Given the description of an element on the screen output the (x, y) to click on. 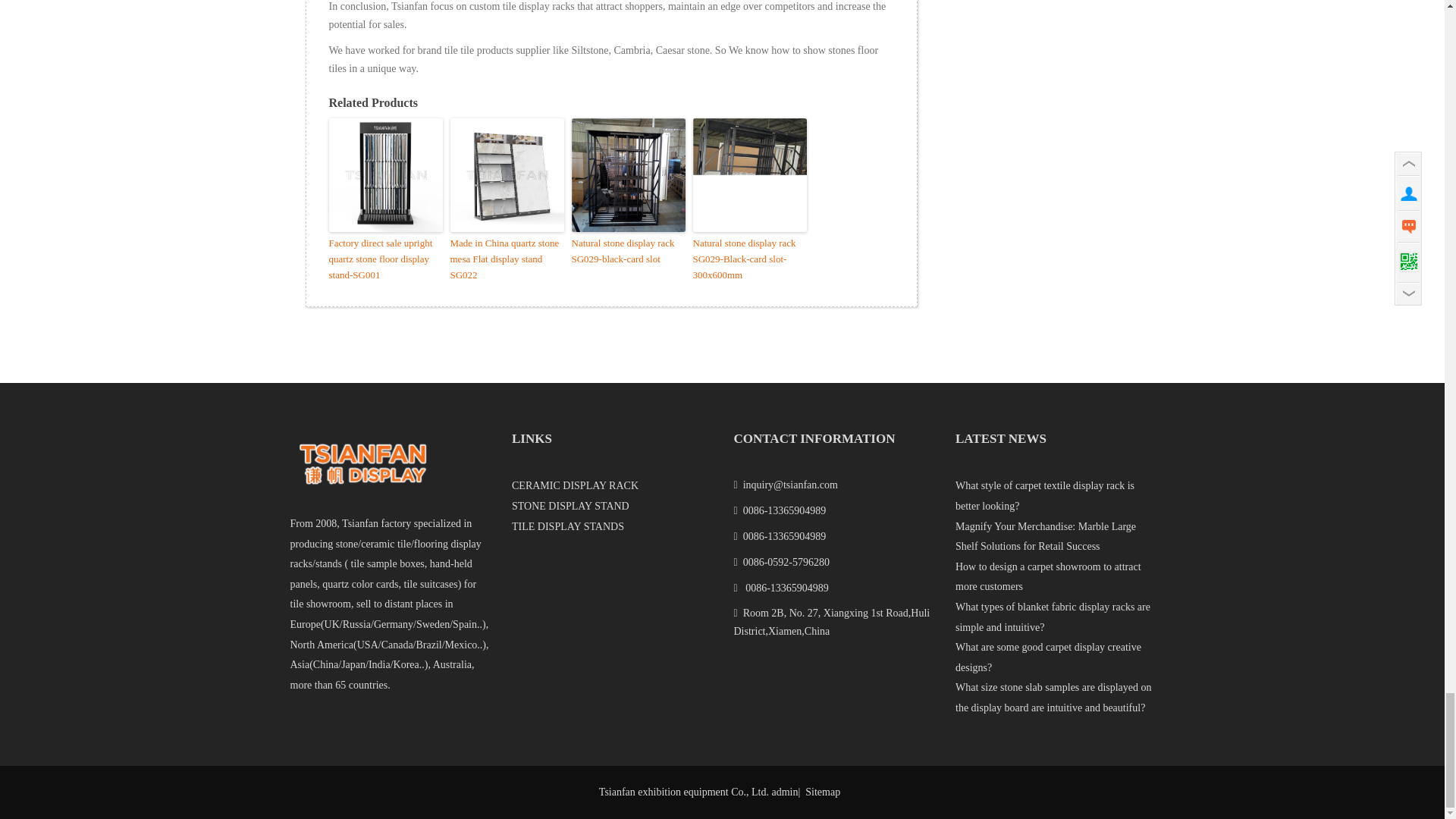
How to design a carpet showroom to attract more customers (1048, 576)
What style of carpet textile display rack is better looking? (1044, 495)
What are some good carpet display creative designs? (1048, 657)
